Given the description of an element on the screen output the (x, y) to click on. 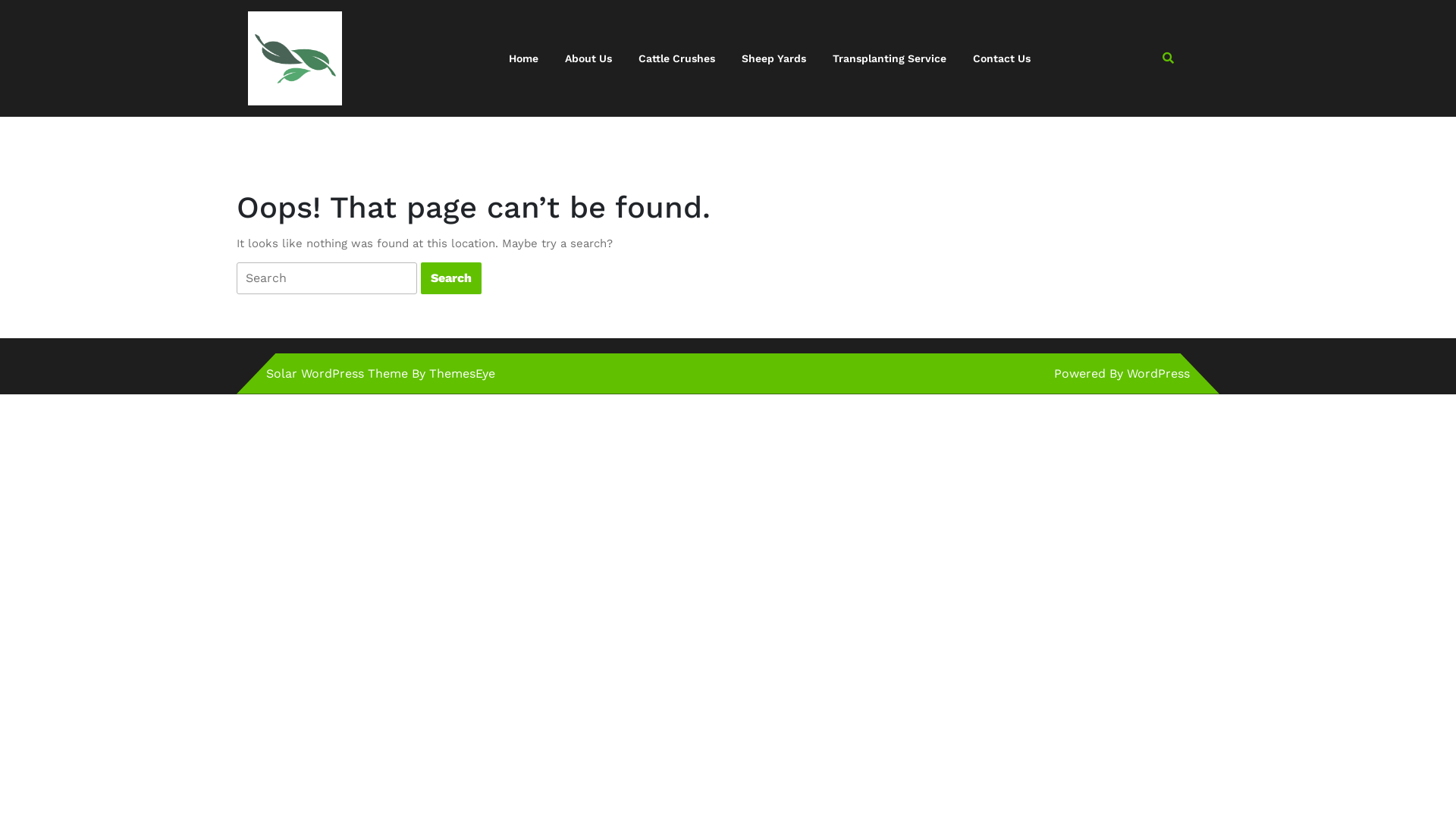
Search Element type: text (450, 278)
Transplanting Service Element type: text (888, 58)
Cattle Crushes Element type: text (675, 58)
Solar WordPress Theme Element type: text (336, 373)
Sheep Yards Element type: text (772, 58)
Home Element type: text (523, 58)
Contact Us Element type: text (1001, 58)
About Us Element type: text (588, 58)
